Given the description of an element on the screen output the (x, y) to click on. 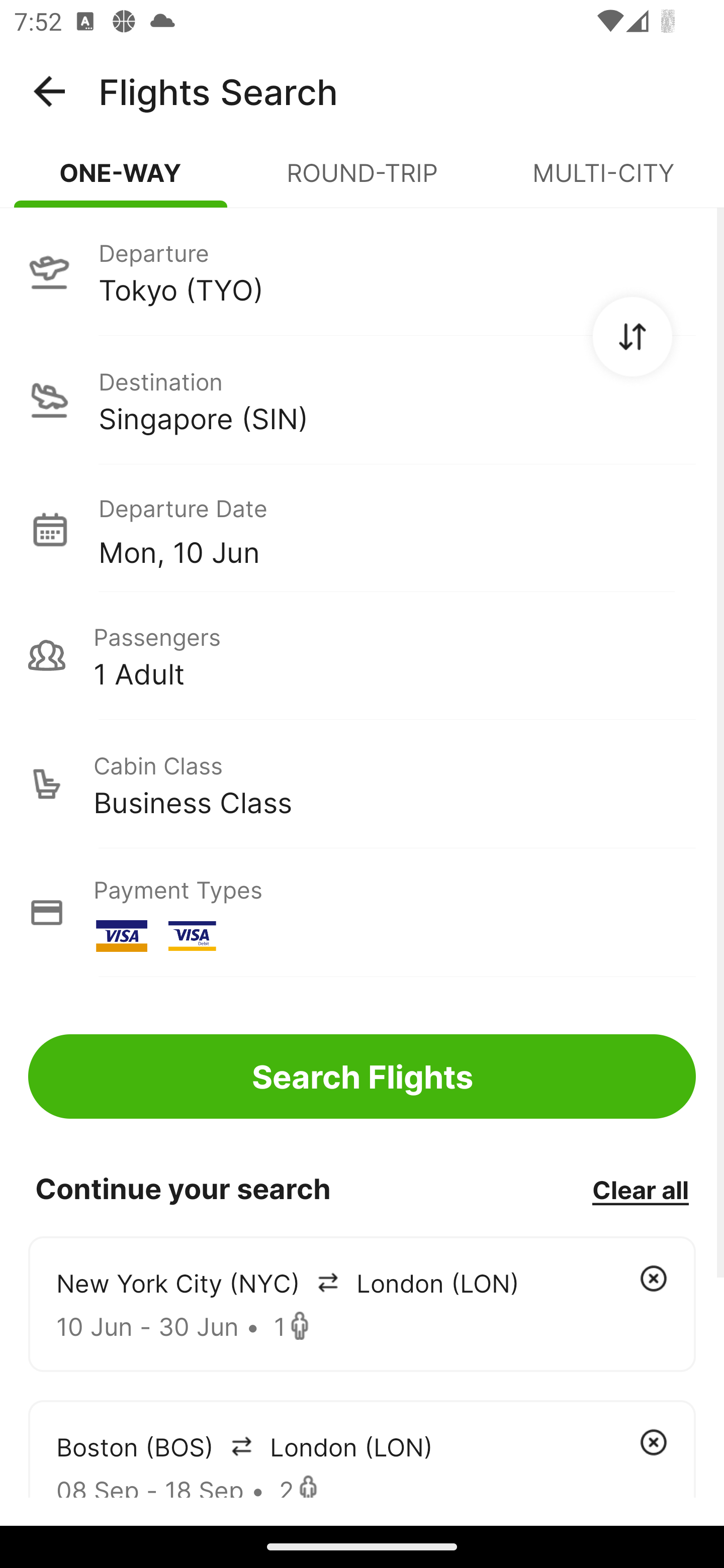
ONE-WAY (120, 180)
ROUND-TRIP (361, 180)
MULTI-CITY (603, 180)
Departure Tokyo (TYO) (362, 270)
Destination Singapore (SIN) (362, 400)
Departure Date Mon, 10 Jun (396, 528)
Passengers 1 Adult (362, 655)
Cabin Class Business Class (362, 783)
Payment Types (362, 912)
Search Flights (361, 1075)
Clear all (640, 1189)
